Given the description of an element on the screen output the (x, y) to click on. 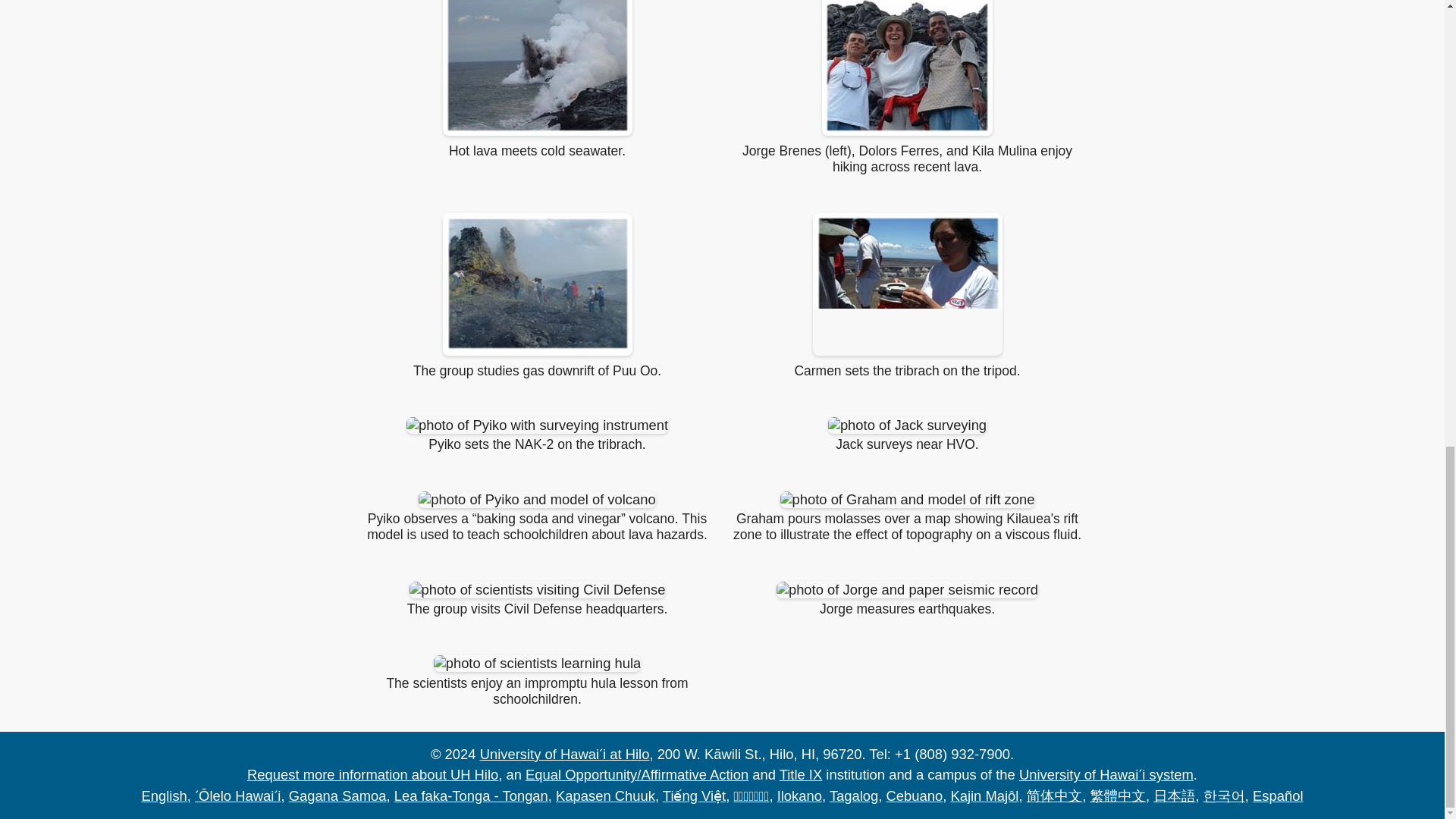
Title IX (605, 795)
Request more information about UH Hilo (853, 795)
